Given the description of an element on the screen output the (x, y) to click on. 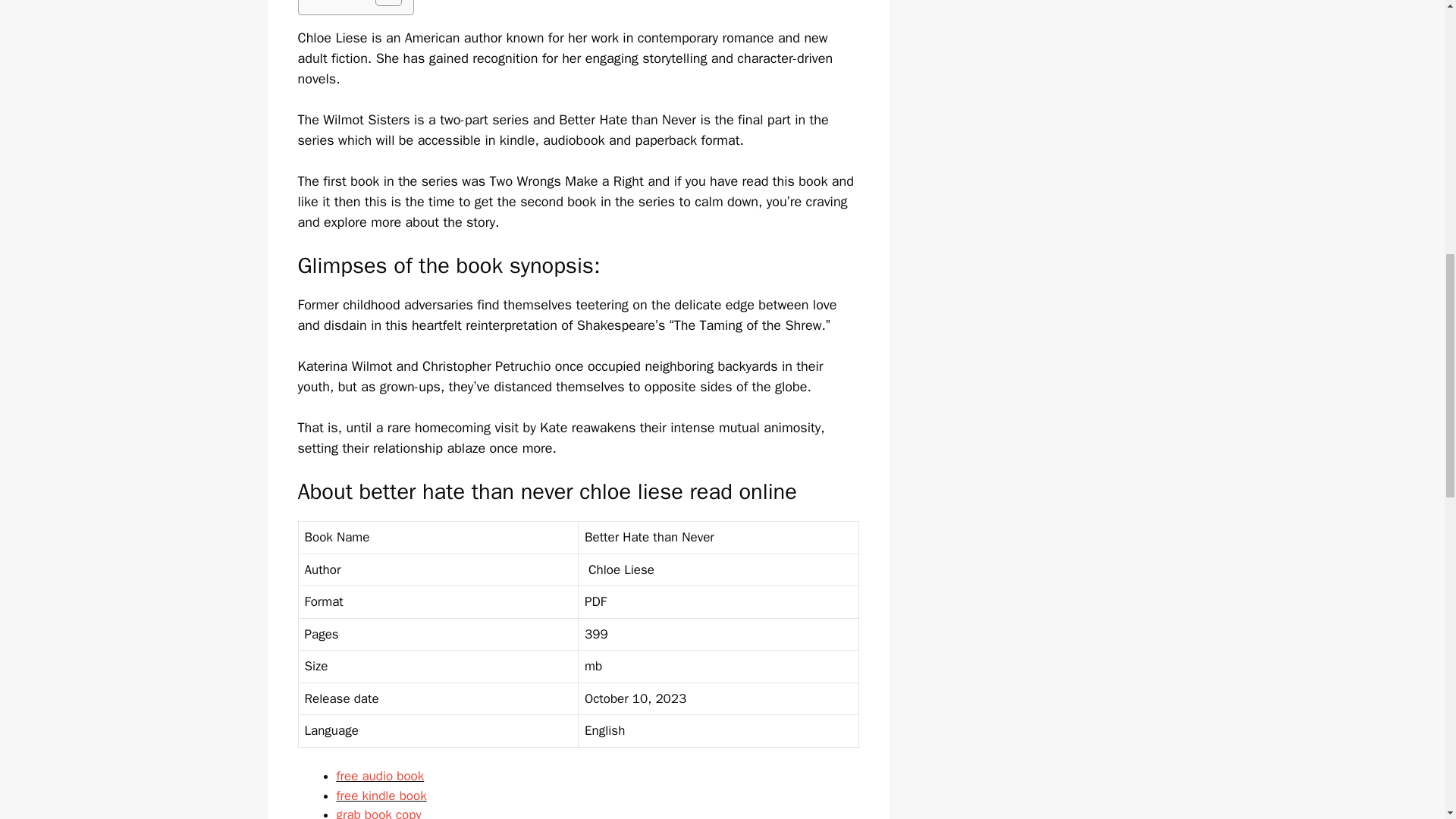
grab book copy (379, 812)
free audio book (380, 775)
free kindle book (381, 795)
